Given the description of an element on the screen output the (x, y) to click on. 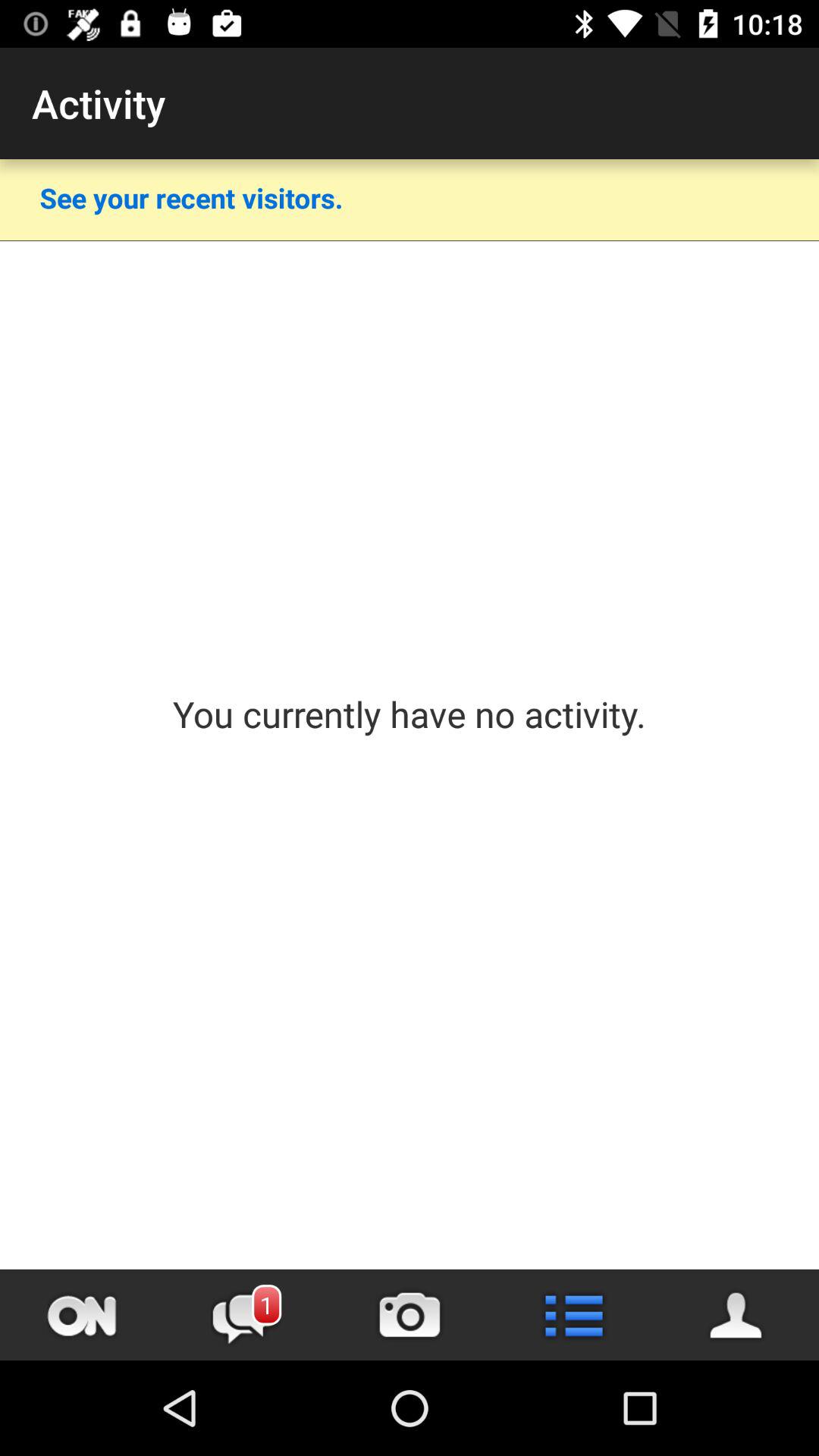
messages (245, 1315)
